Given the description of an element on the screen output the (x, y) to click on. 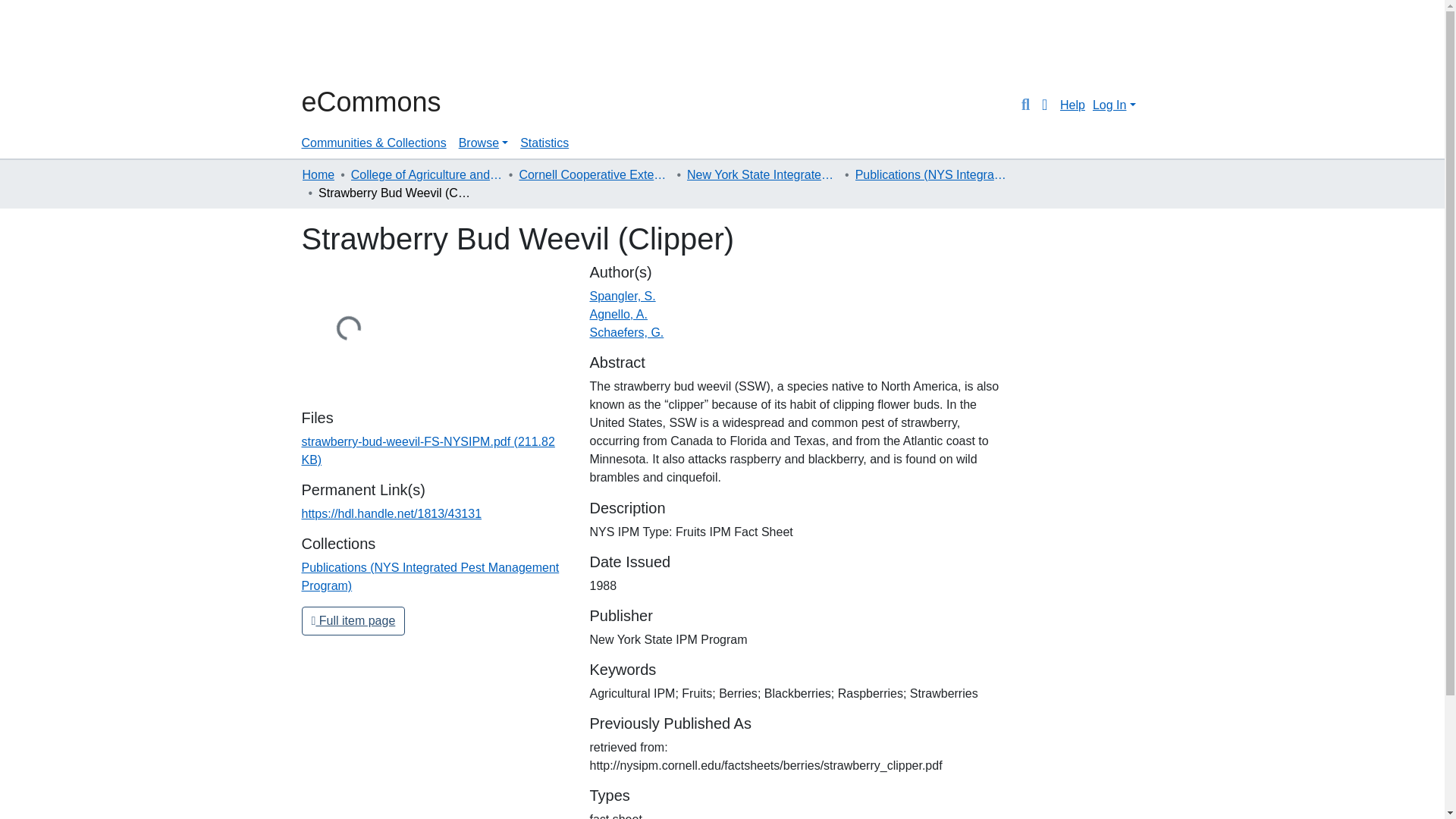
Help (1071, 104)
Cornell University (339, 43)
Statistics (544, 142)
College of Agriculture and Life Sciences (426, 175)
eCommons (371, 101)
Home (317, 175)
Search (1025, 105)
Log In (1113, 104)
Library (362, 43)
Spangler, S. (622, 295)
Language switch (1044, 105)
Statistics (544, 142)
Agnello, A. (618, 314)
New York State Integrated Pest Management Program (762, 175)
Schaefers, G. (626, 332)
